Given the description of an element on the screen output the (x, y) to click on. 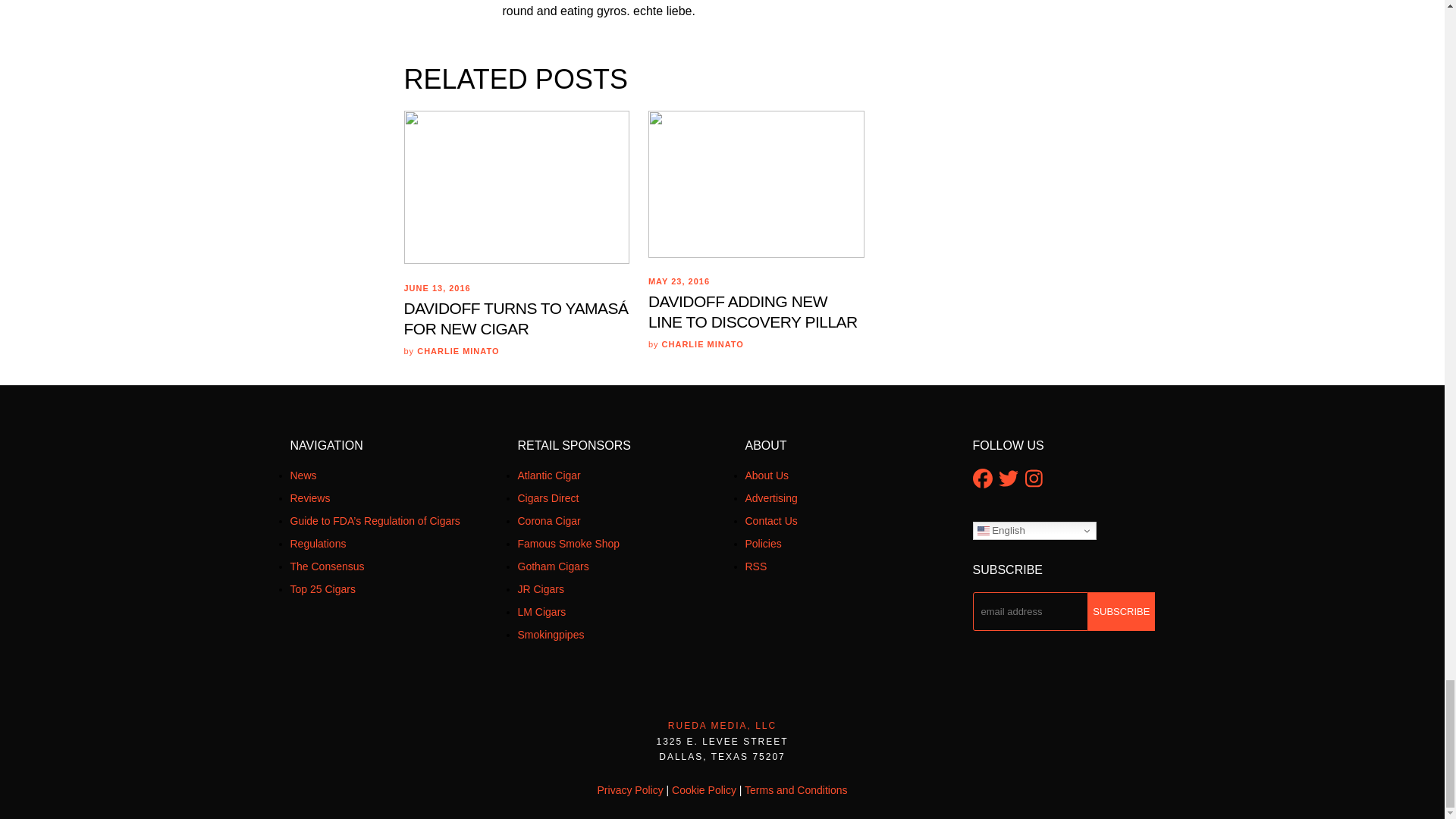
SUBSCRIBE (1120, 611)
